Given the description of an element on the screen output the (x, y) to click on. 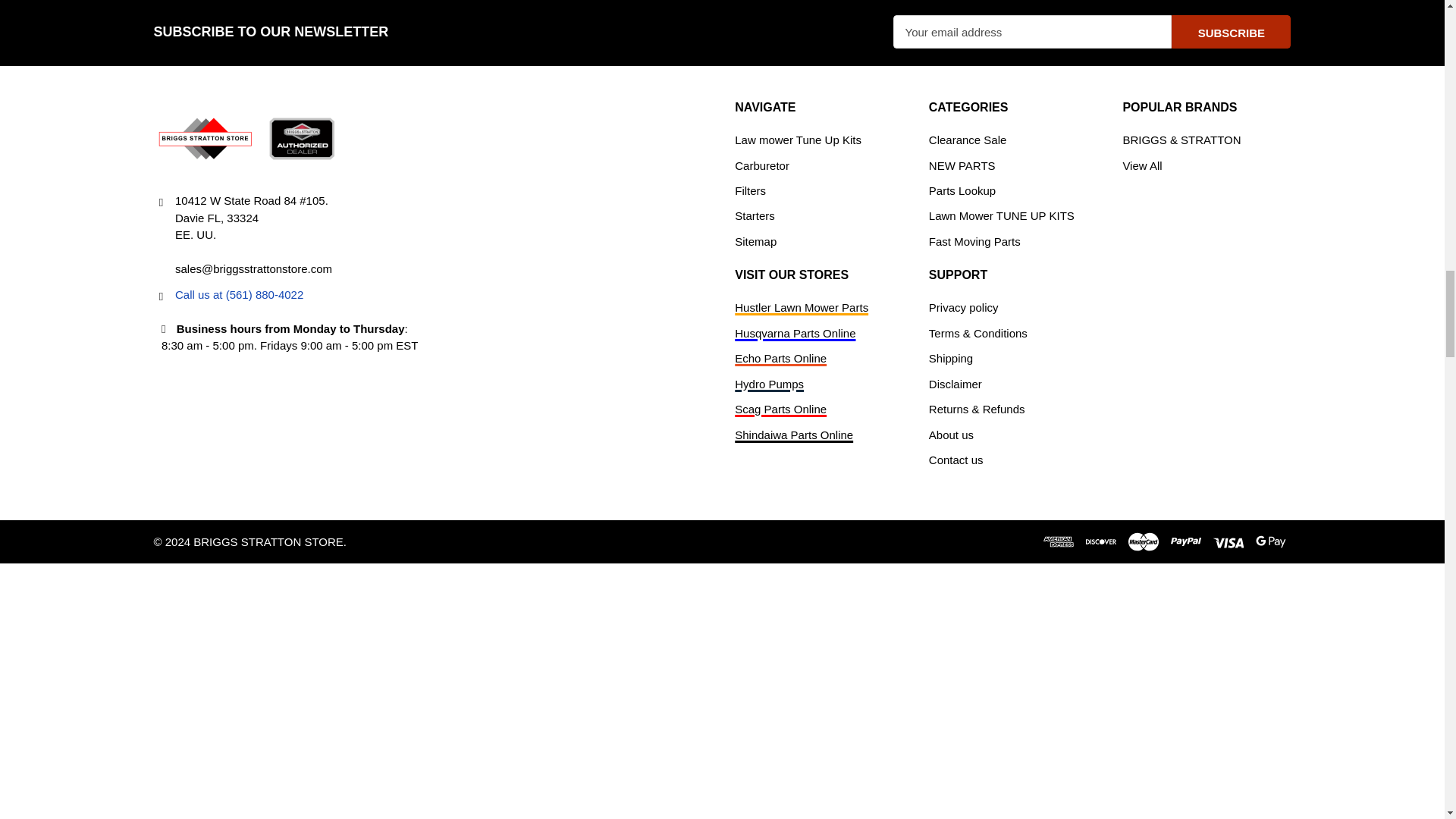
Subscribe (1231, 31)
BriggsStrattonStore (247, 137)
